Given the description of an element on the screen output the (x, y) to click on. 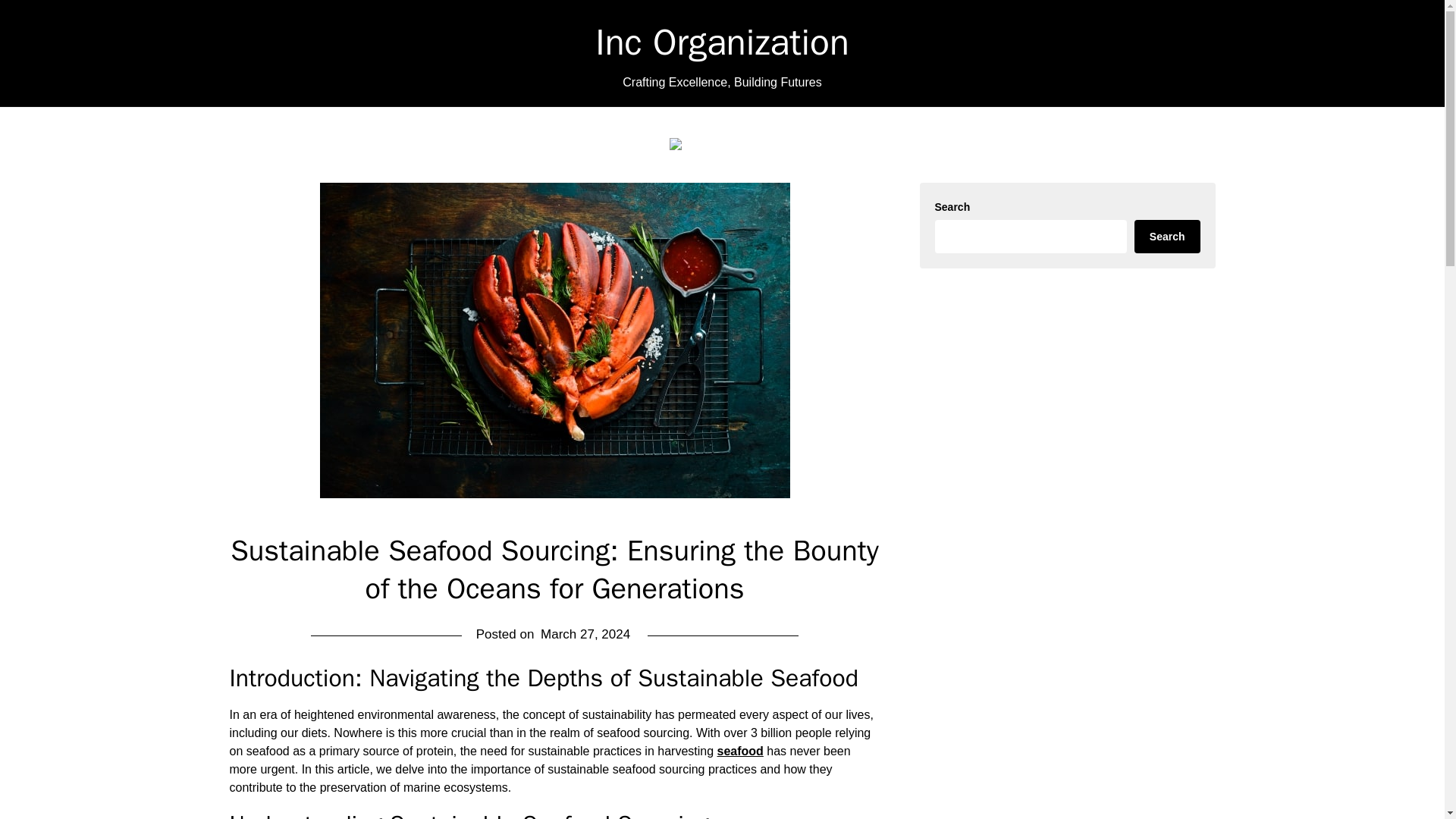
Inc Organization (721, 42)
March 27, 2024 (585, 634)
Search (1166, 236)
seafood (739, 750)
